Given the description of an element on the screen output the (x, y) to click on. 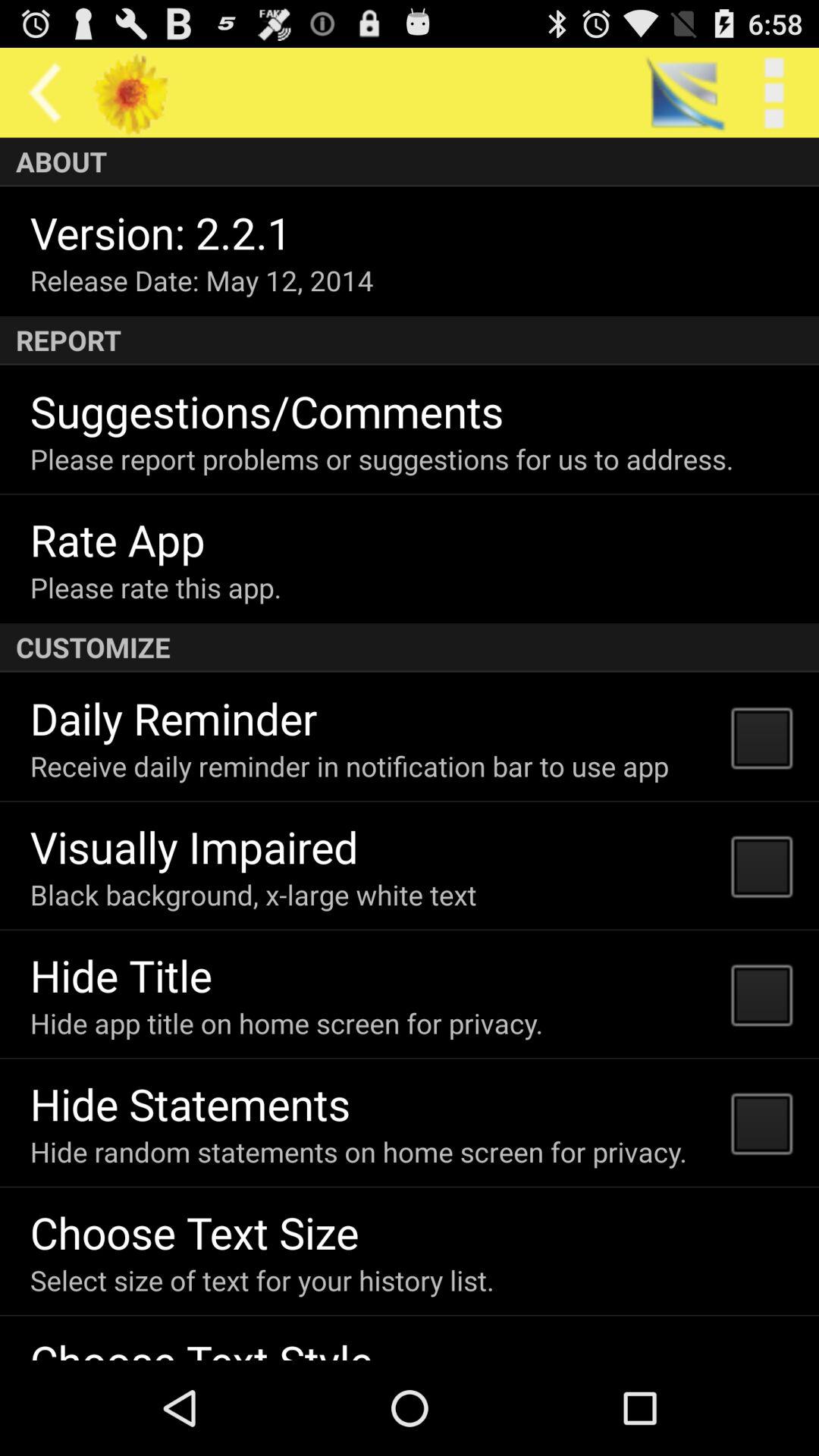
choose the suggestions/comments item (266, 410)
